Given the description of an element on the screen output the (x, y) to click on. 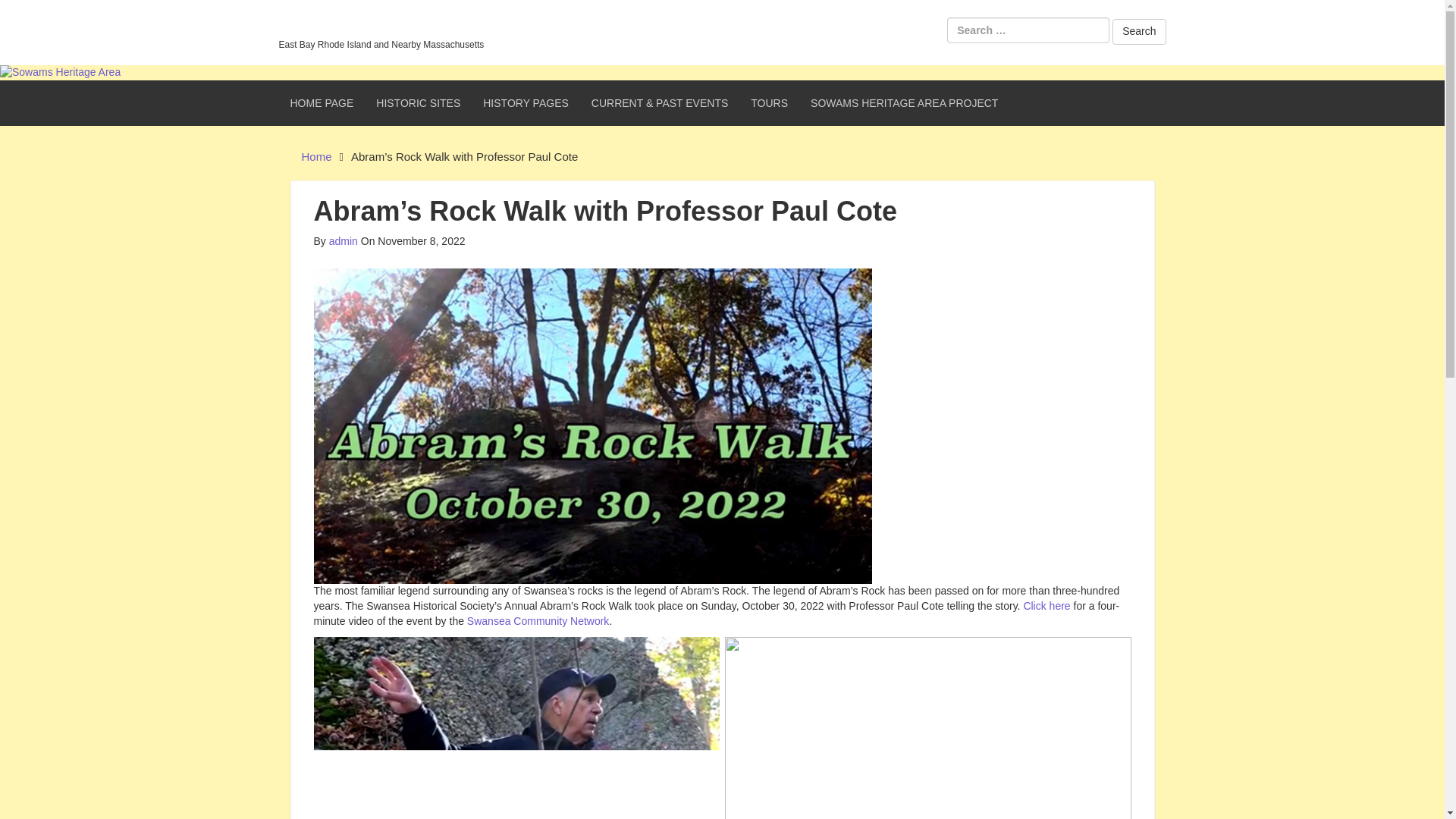
Posts by admin (343, 241)
Search (1139, 31)
Sowams Heritage Area (60, 71)
Tuesday, November 8, 2022, 6:23 pm (413, 241)
Home (316, 155)
HISTORIC SITES (418, 103)
HISTORY PAGES (525, 103)
HISTORY PAGES (525, 103)
Sowams Heritage Area (381, 25)
Search (1139, 31)
